Given the description of an element on the screen output the (x, y) to click on. 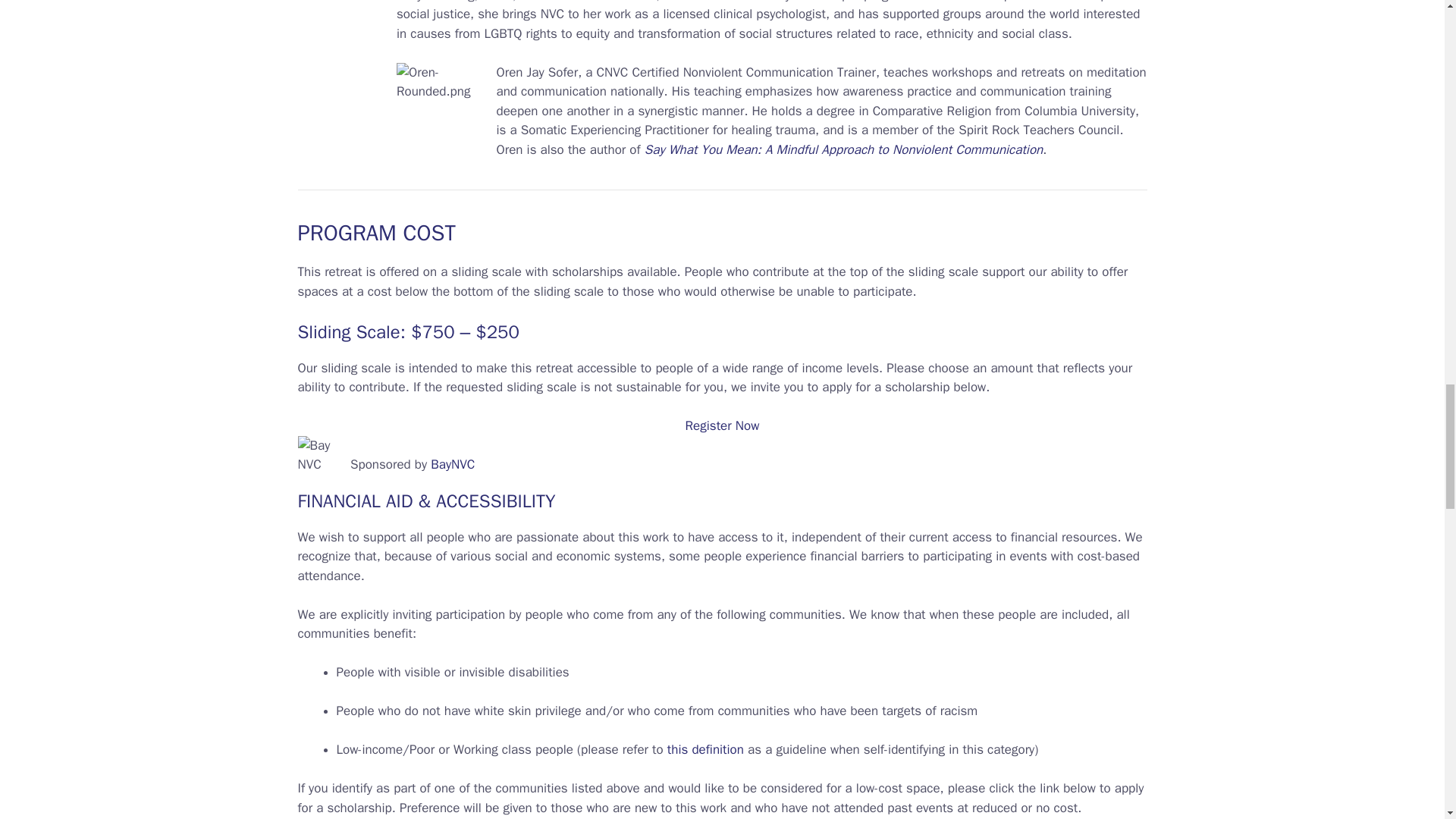
Register Now (722, 425)
BayNVC (452, 464)
this definition (703, 749)
